Given the description of an element on the screen output the (x, y) to click on. 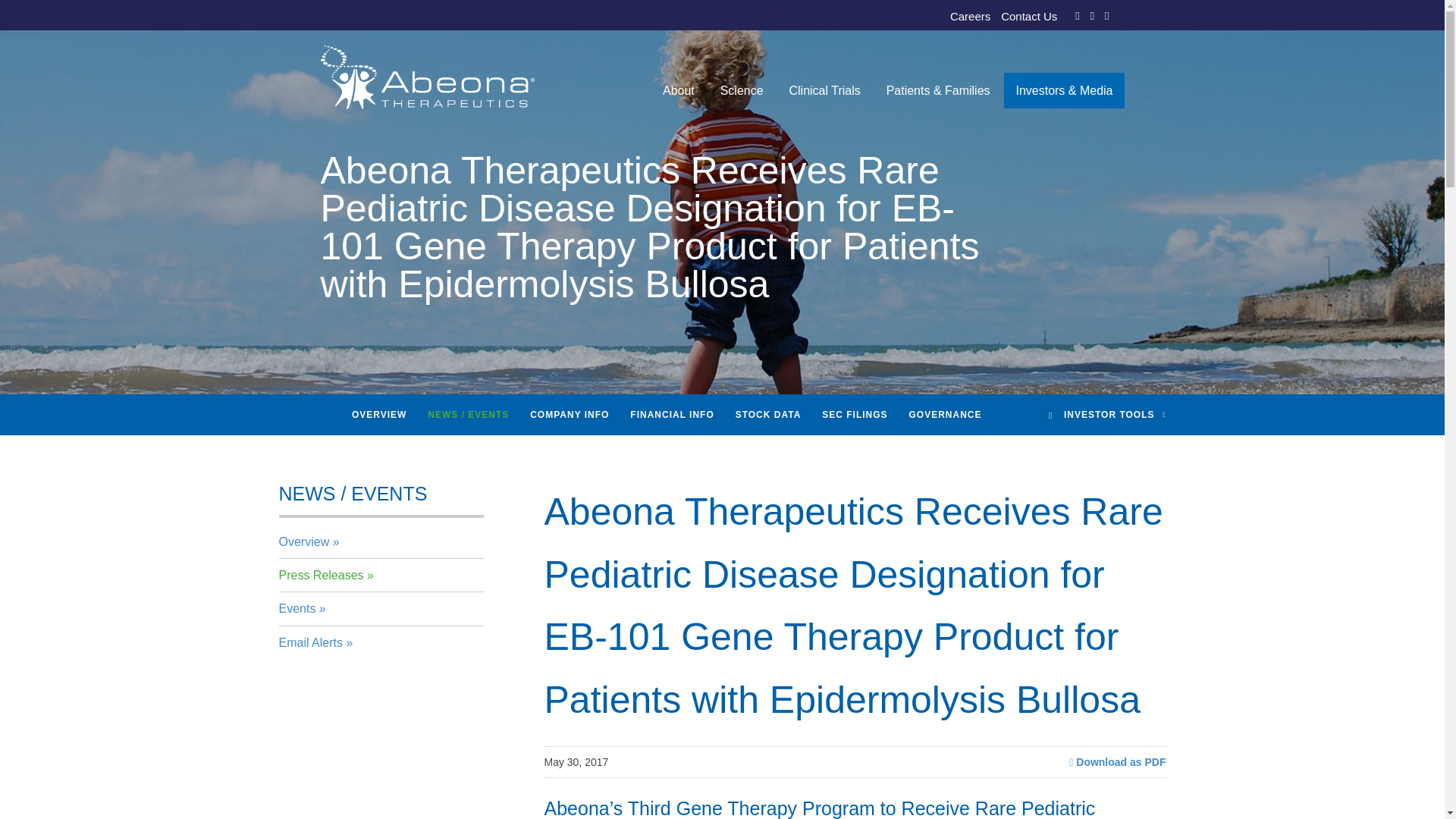
About (678, 90)
Home (662, 90)
Careers (970, 16)
LinkedIn (1106, 15)
Facebook (1076, 15)
Twitter (1092, 15)
Contact Us (1029, 16)
Science (741, 90)
Clinical Trials (823, 90)
